Given the description of an element on the screen output the (x, y) to click on. 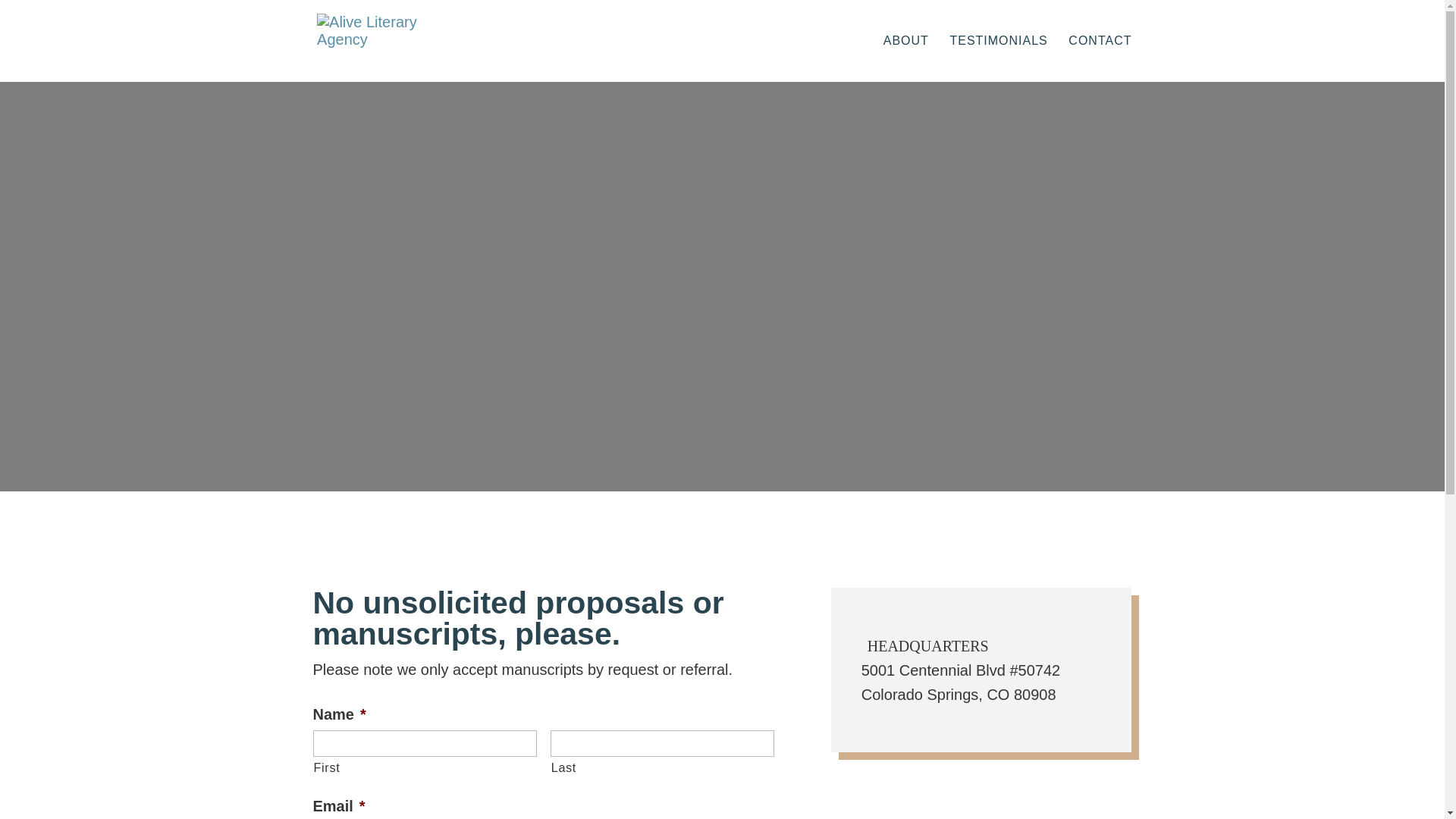
ABOUT (905, 58)
TESTIMONIALS (997, 58)
CONTACT (1099, 58)
